Given the description of an element on the screen output the (x, y) to click on. 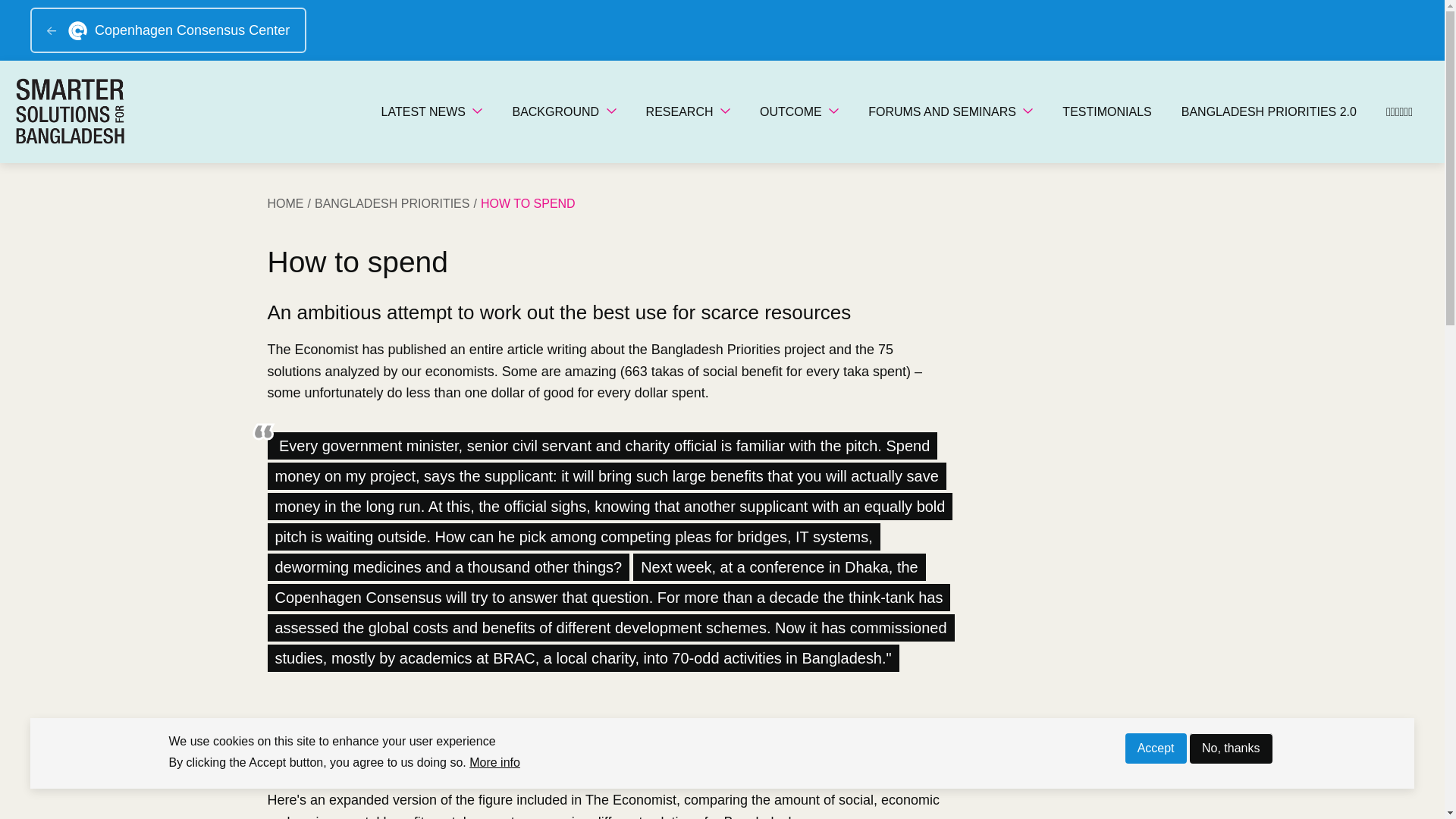
FORUMS AND SEMINARS 6917ABB0-710A-4B2B-8172-AEAAF451985C (950, 112)
OUTCOME 6917ABB0-710A-4B2B-8172-AEAAF451985C (799, 112)
BANGLADESH PRIORITIES (397, 203)
BANGLADESH PRIORITIES 2.0 (1268, 112)
Copenhagen Consensus Center (167, 29)
HOME (290, 203)
TESTIMONIALS (1106, 112)
6917ABB0-710A-4B2B-8172-AEAAF451985C (725, 111)
6917ABB0-710A-4B2B-8172-AEAAF451985C (611, 111)
BACKGROUND 6917ABB0-710A-4B2B-8172-AEAAF451985C (563, 112)
